Given the description of an element on the screen output the (x, y) to click on. 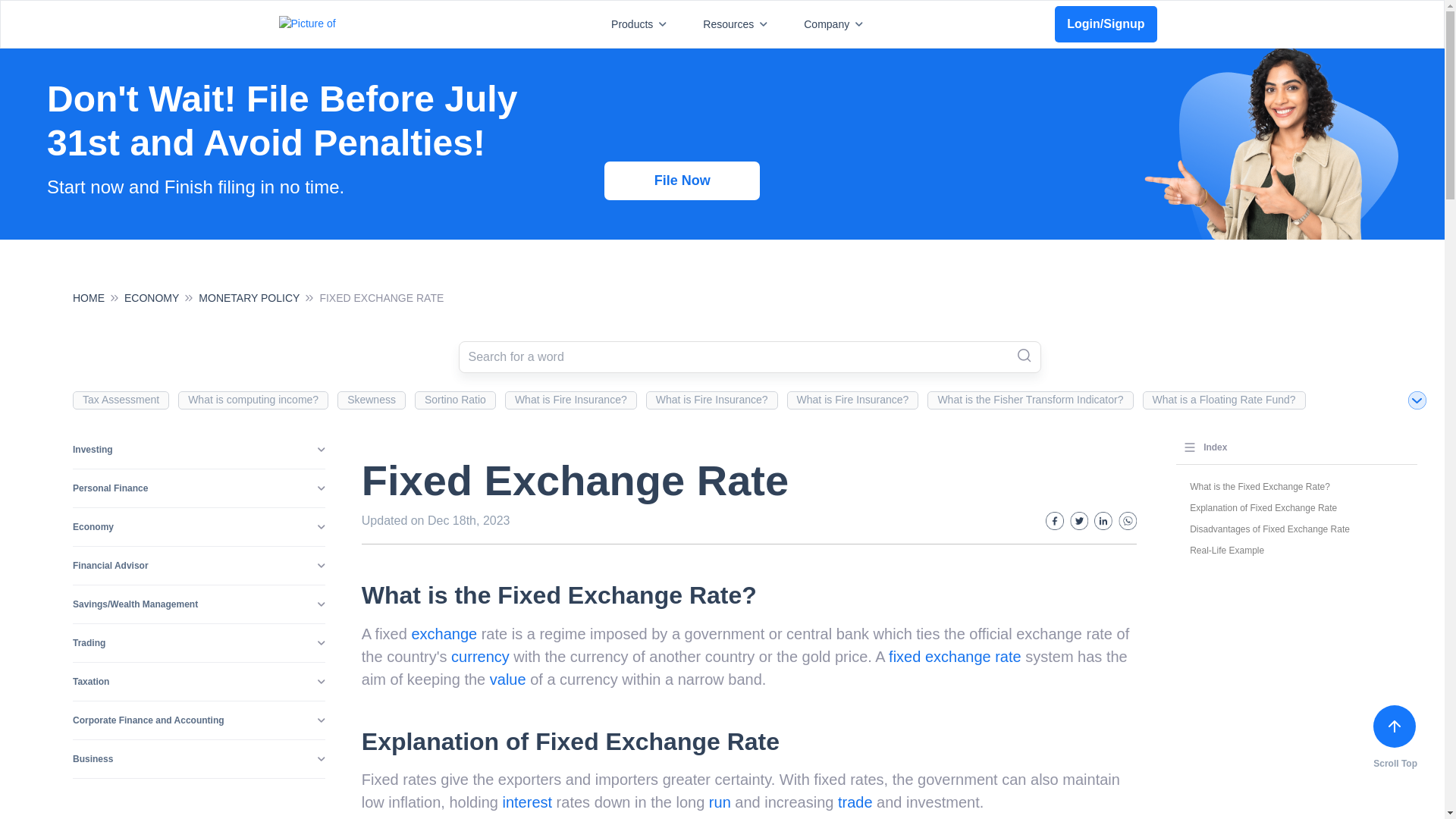
Company (836, 24)
Resources (738, 24)
Products (641, 24)
